Given the description of an element on the screen output the (x, y) to click on. 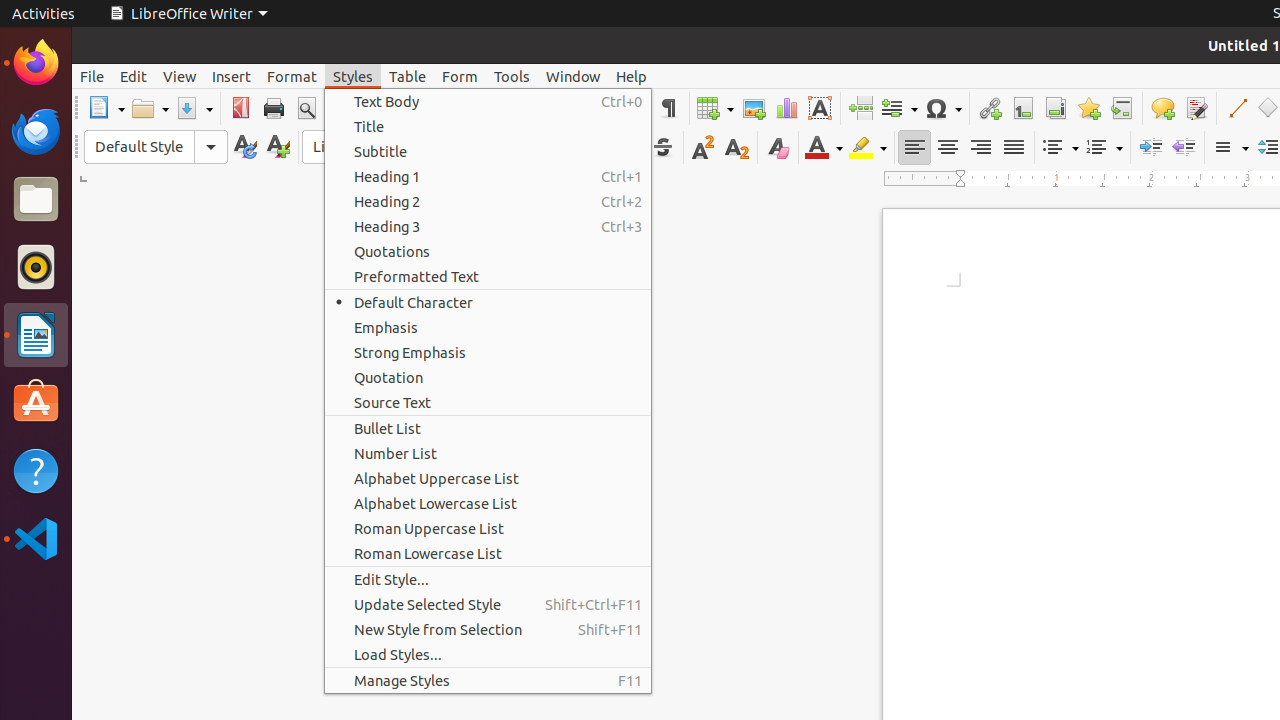
Comment Element type: push-button (1162, 108)
Table Element type: push-button (715, 108)
Thunderbird Mail Element type: push-button (36, 131)
New Style from Selection Element type: menu-item (488, 629)
Emphasis Element type: radio-menu-item (488, 327)
